Given the description of an element on the screen output the (x, y) to click on. 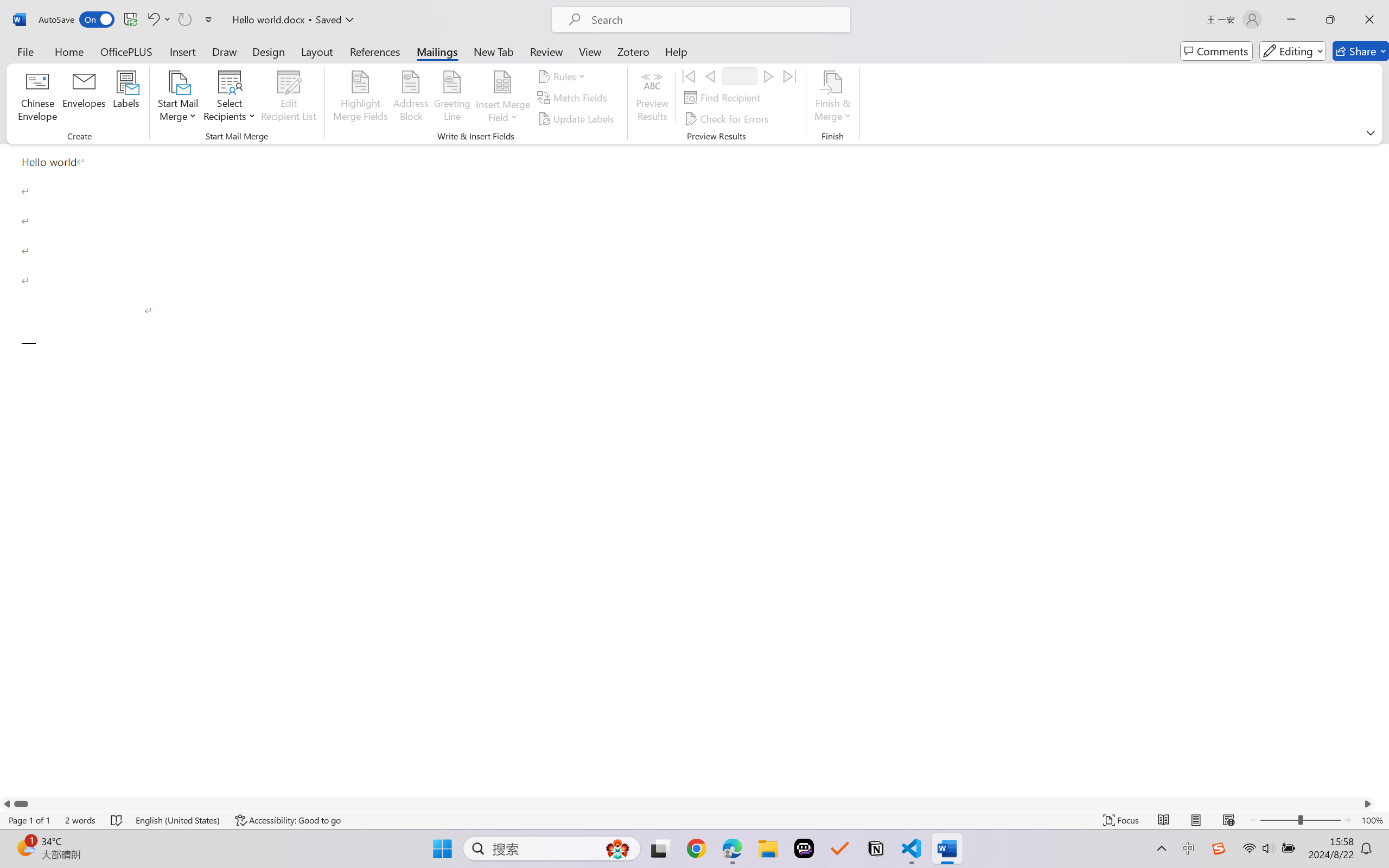
Insert (182, 51)
Editing (1292, 50)
New Tab (493, 51)
Preview Results (652, 97)
Insert Merge Field (502, 81)
Column right (1368, 803)
File Tab (24, 51)
Edit Recipient List... (288, 97)
Print Layout (1196, 819)
Save (130, 19)
Envelopes... (84, 97)
Find Recipient... (723, 97)
